Given the description of an element on the screen output the (x, y) to click on. 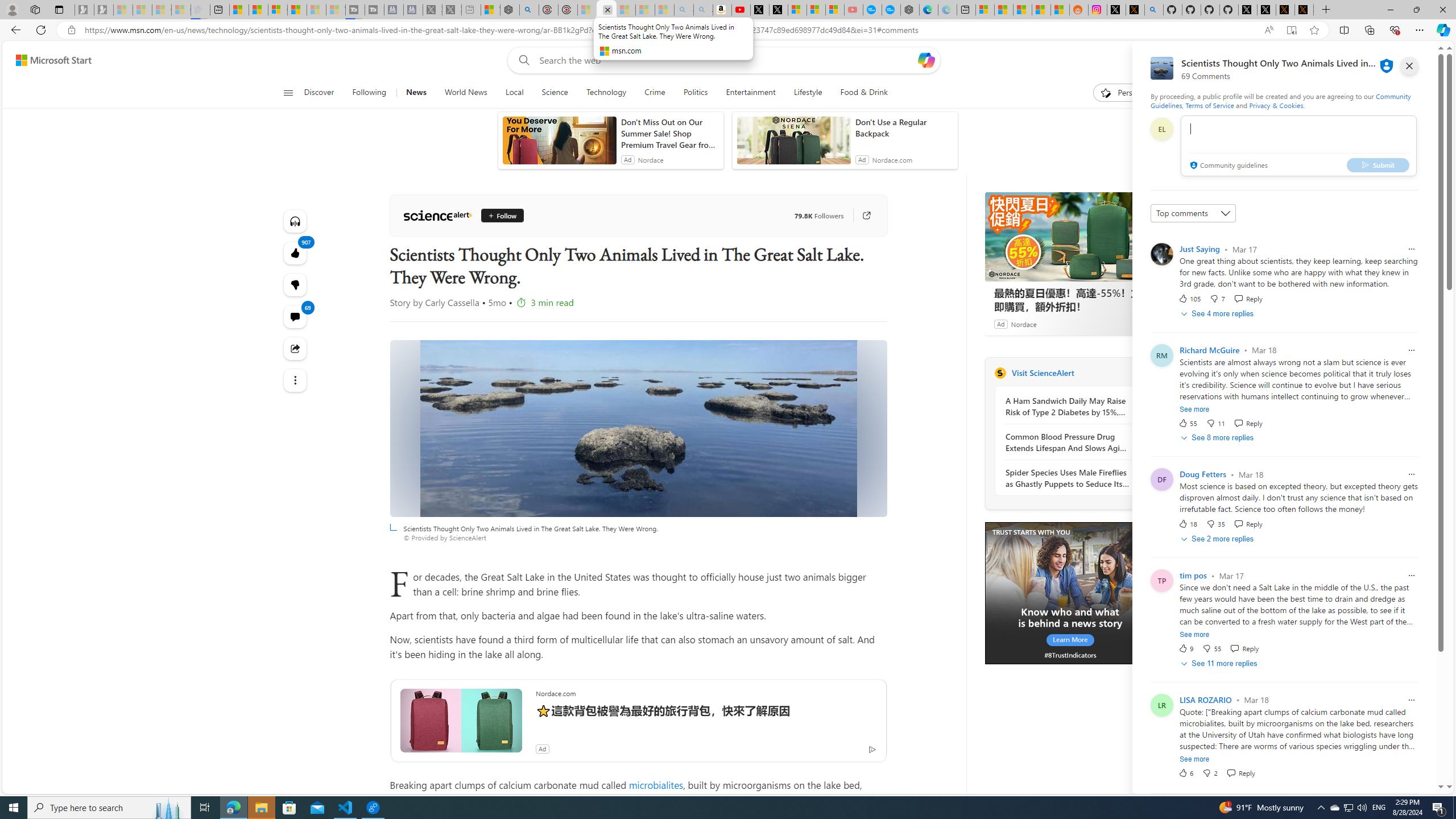
55 Like (1187, 422)
Profile Picture (1161, 254)
6 Like (1185, 772)
Science (554, 92)
Technology (605, 92)
Crime (654, 92)
World News (465, 92)
microbialites (656, 784)
Politics (694, 92)
Enter Immersive Reader (F9) (1291, 29)
